Given the description of an element on the screen output the (x, y) to click on. 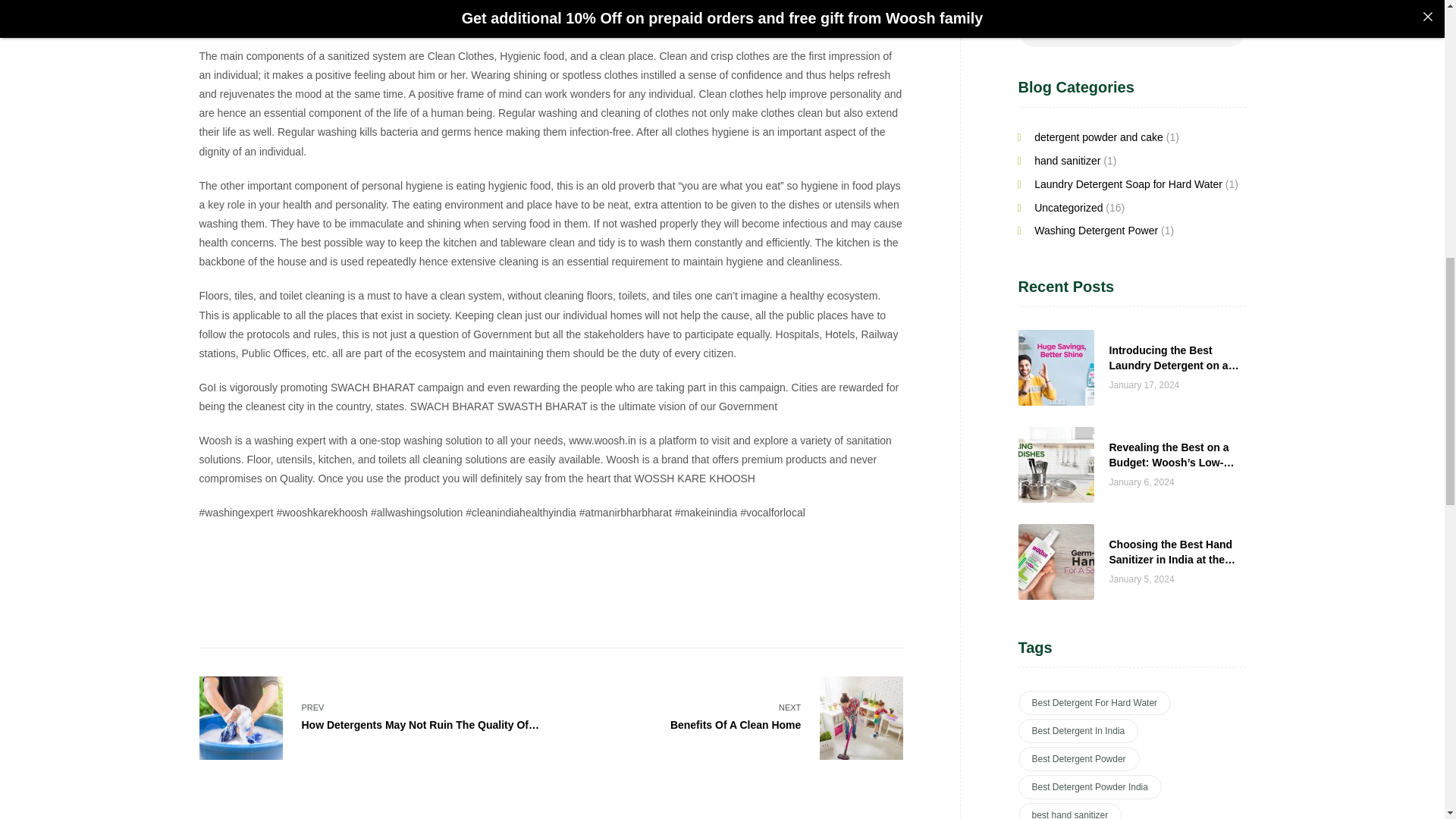
Search (368, 718)
Search (1210, 29)
